Given the description of an element on the screen output the (x, y) to click on. 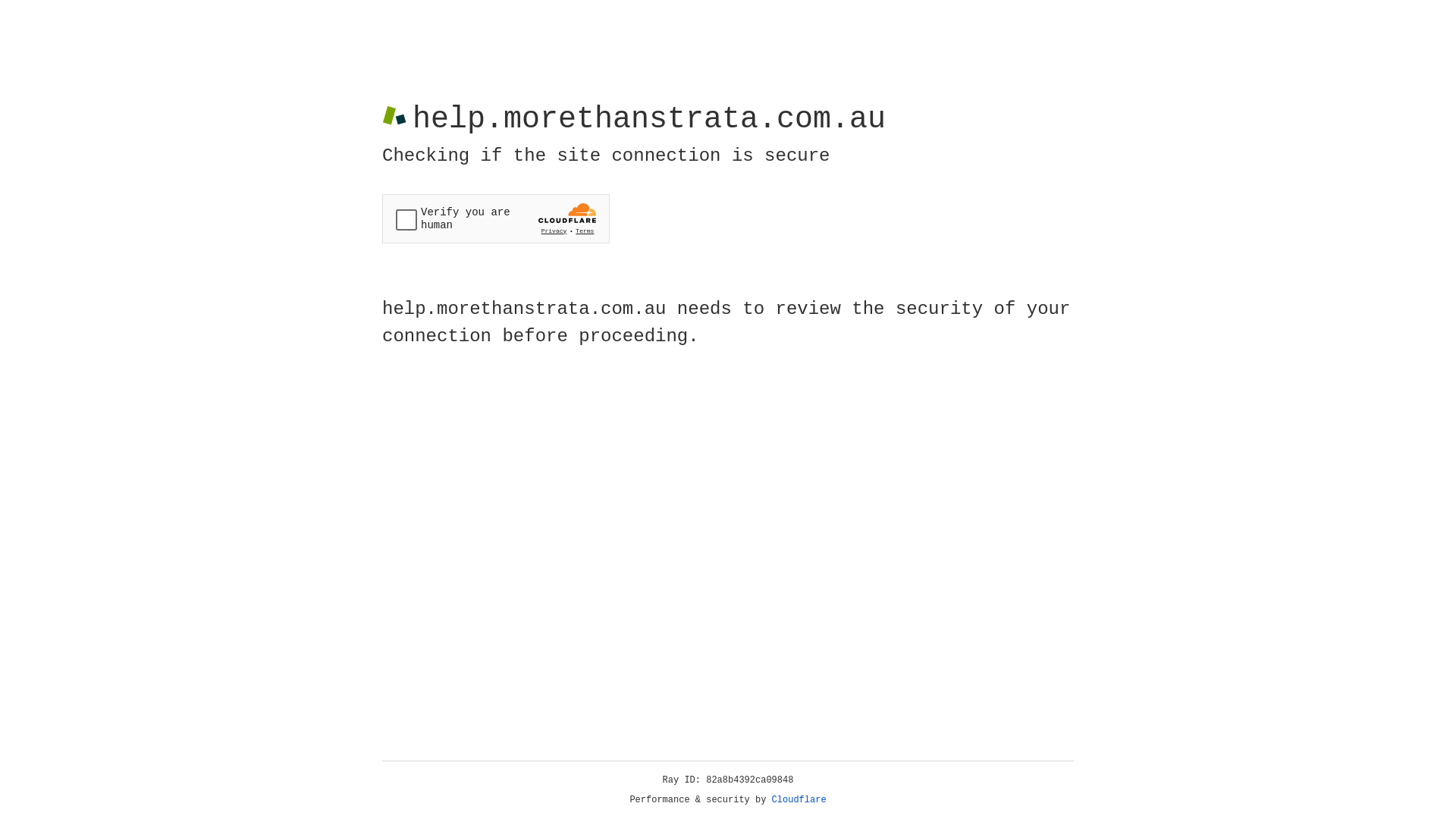
Cloudflare Element type: text (798, 799)
Widget containing a Cloudflare security challenge Element type: hover (495, 218)
